Given the description of an element on the screen output the (x, y) to click on. 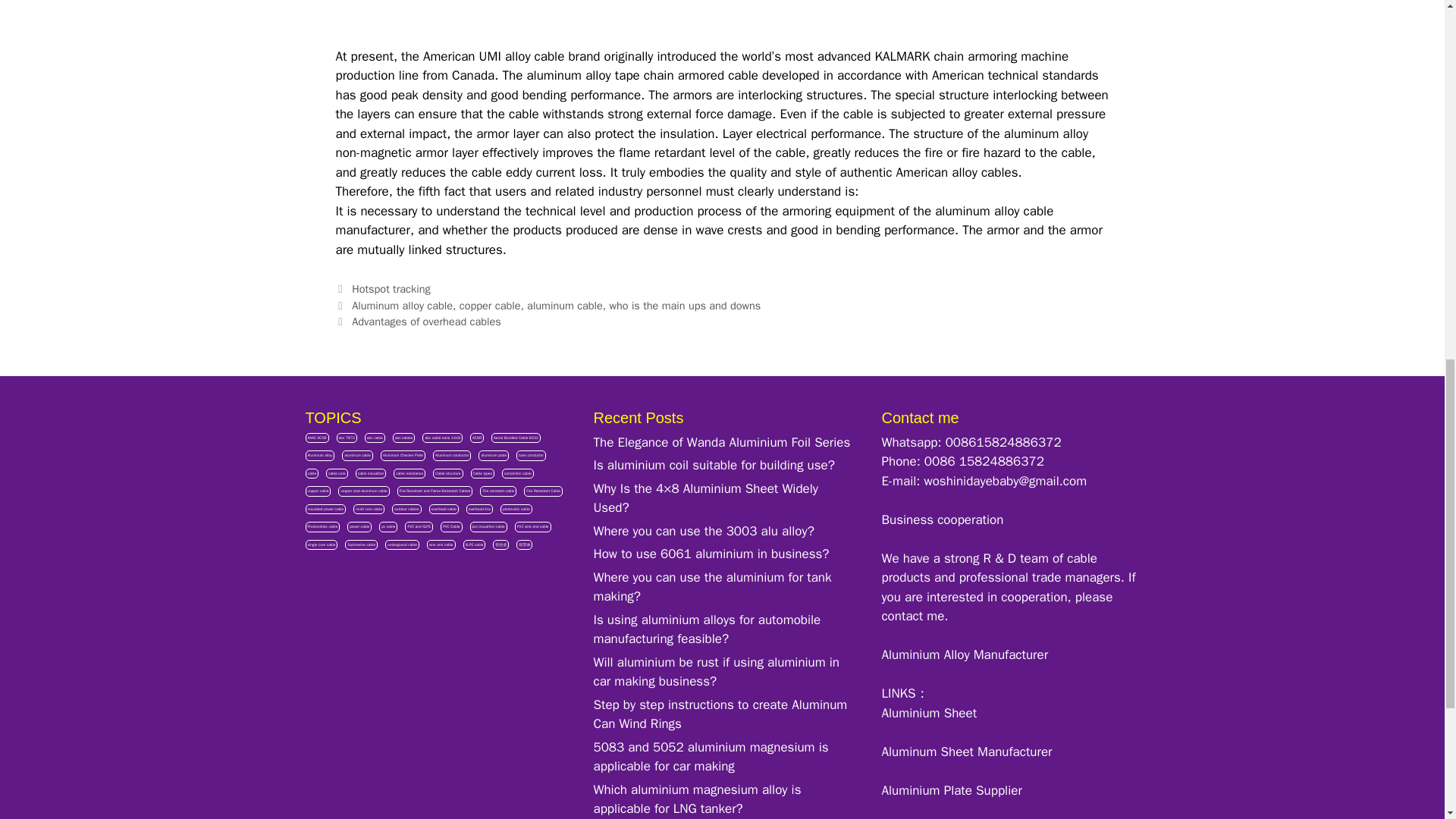
Aerial Bundled Cable B231 (516, 438)
cable (311, 473)
cable core (336, 473)
bare conductor (531, 455)
Fire resistant cable (498, 491)
Advantages of overhead cables (426, 321)
Fire-Resistant and Flame-Retardant Cables (435, 491)
aluminum plate (493, 455)
Aluminum alloy (319, 455)
abc cable (375, 438)
Cable structure (447, 473)
Hotspot tracking (391, 288)
Aluminum Checker Plate (402, 455)
copper clad aluminum cable (362, 491)
